Given the description of an element on the screen output the (x, y) to click on. 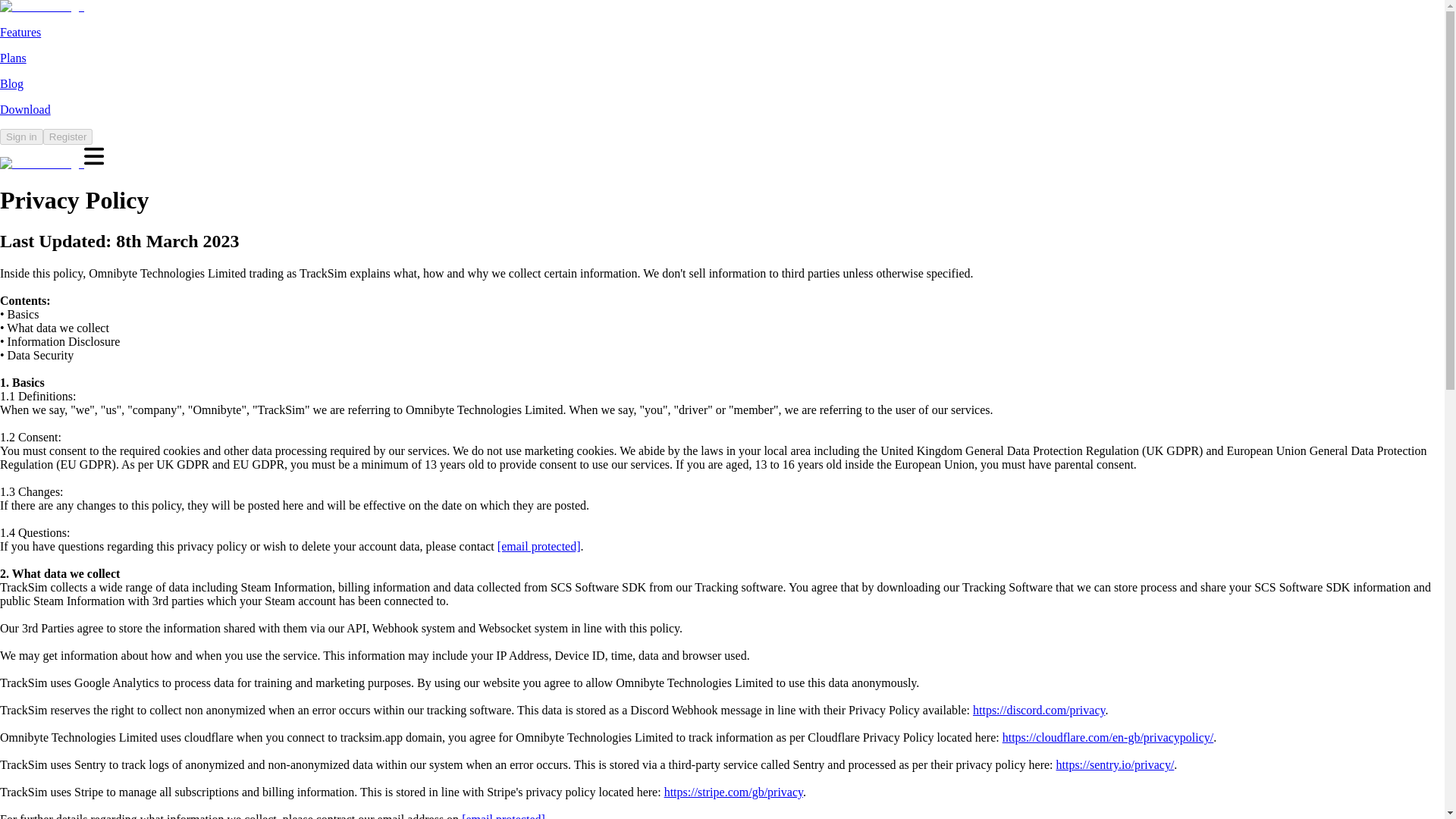
Blog (11, 83)
Register (68, 136)
Sign in (21, 135)
Register (68, 135)
Sign in (21, 136)
